Given the description of an element on the screen output the (x, y) to click on. 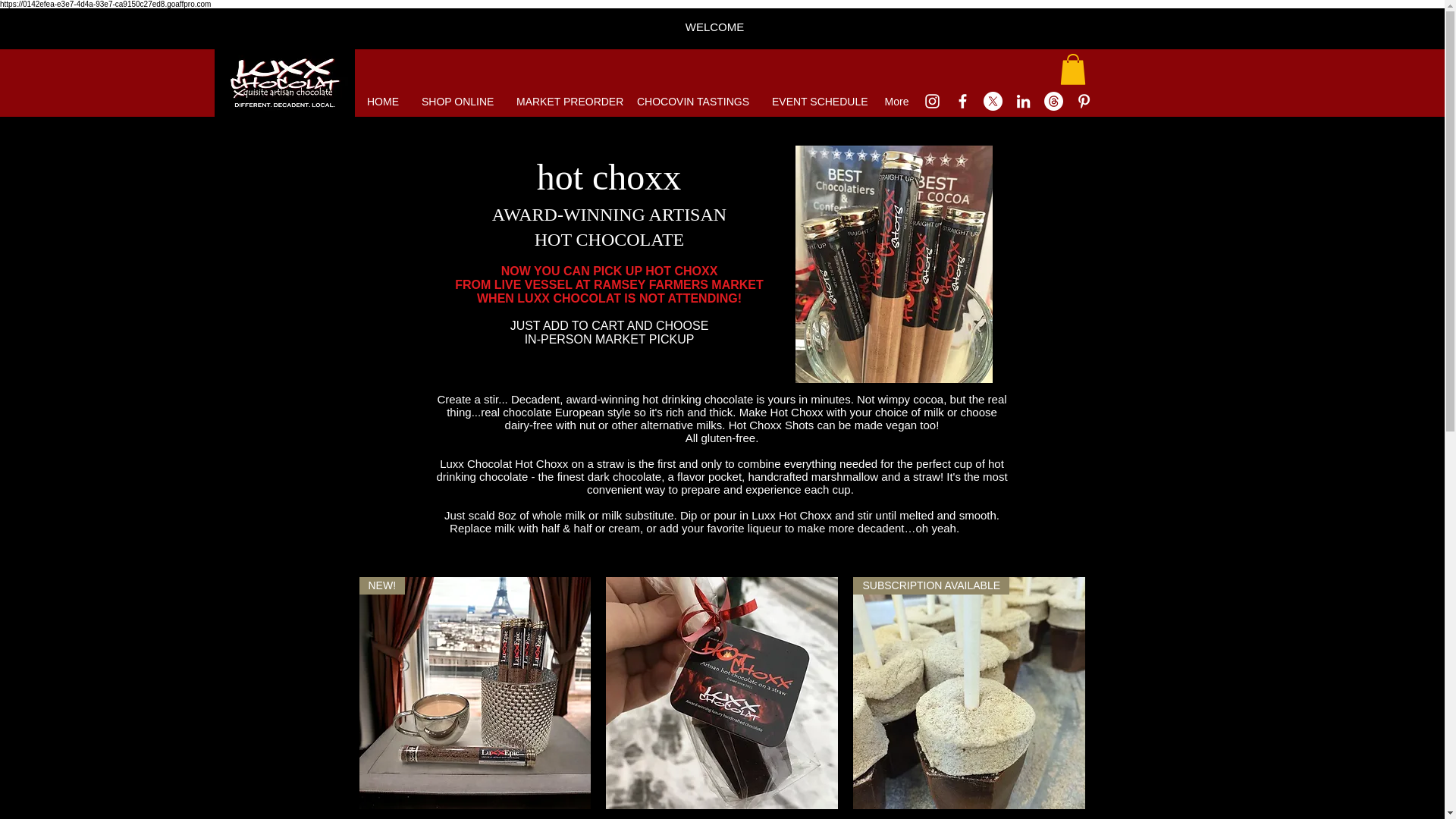
MARKET PREORDER (565, 101)
SHOP ONLINE (457, 101)
WELCOME (714, 26)
CHOCOVIN TASTINGS (693, 101)
EVENT SCHEDULE (816, 101)
HOME (382, 101)
